Given the description of an element on the screen output the (x, y) to click on. 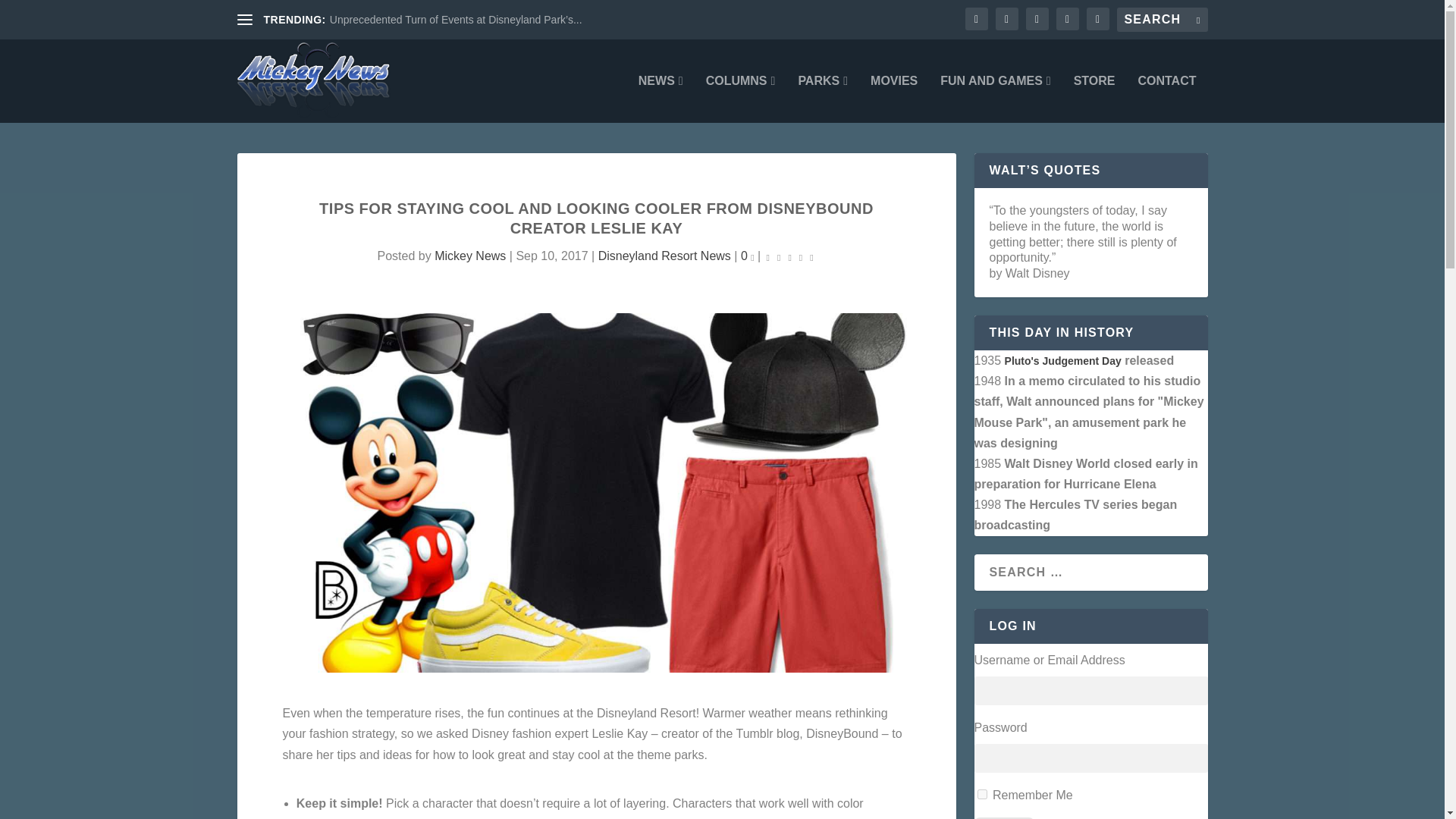
Search for: (1161, 19)
Rating: 0.00 (789, 256)
COLUMNS (741, 98)
forever (981, 794)
Posts by Mickey News (469, 255)
PARKS (822, 98)
NEWS (660, 98)
